Given the description of an element on the screen output the (x, y) to click on. 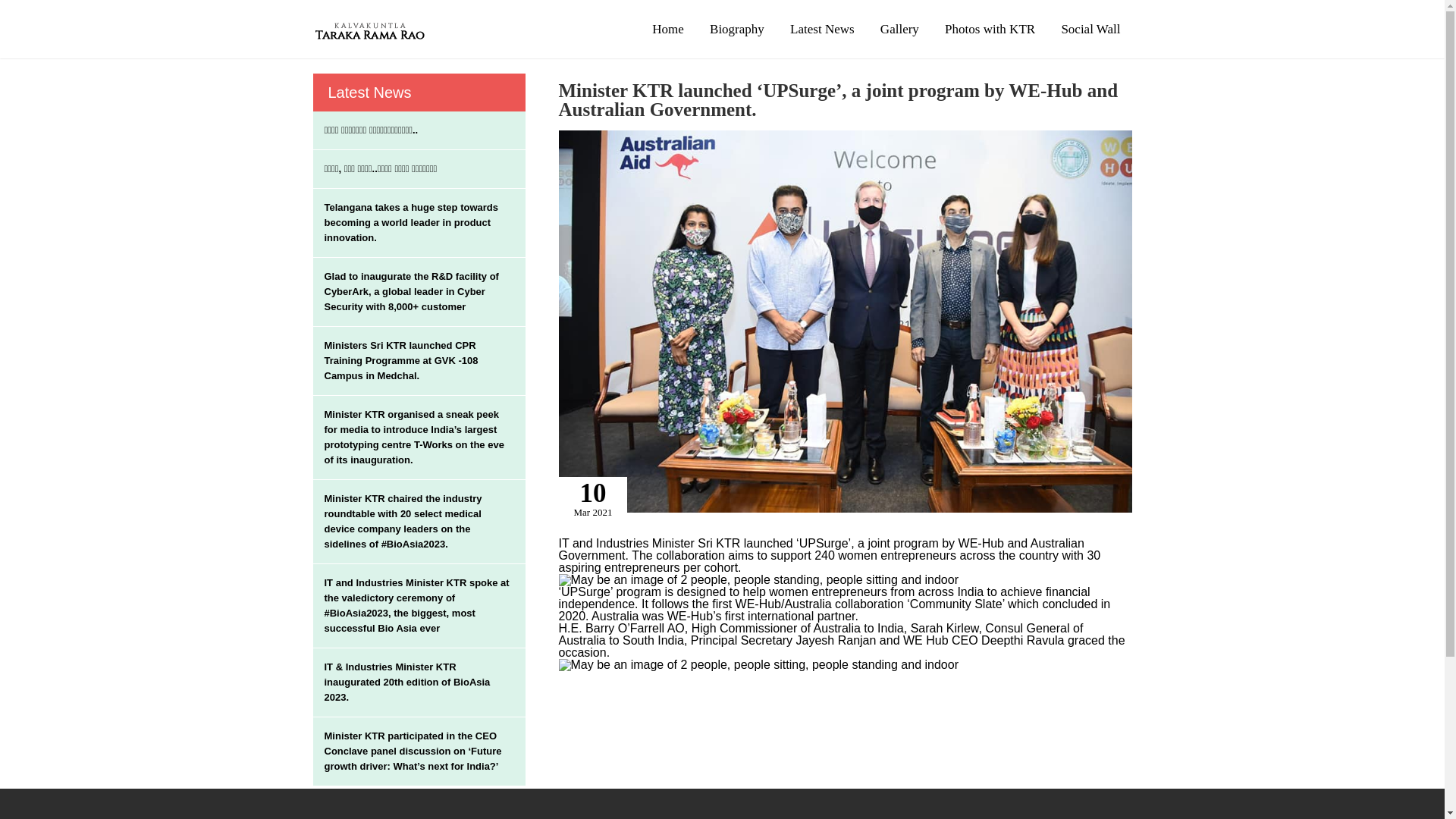
Latest News (822, 29)
Social Wall (1090, 29)
Gallery (899, 29)
Photos with KTR (989, 29)
Home (667, 29)
Biography (737, 29)
